Given the description of an element on the screen output the (x, y) to click on. 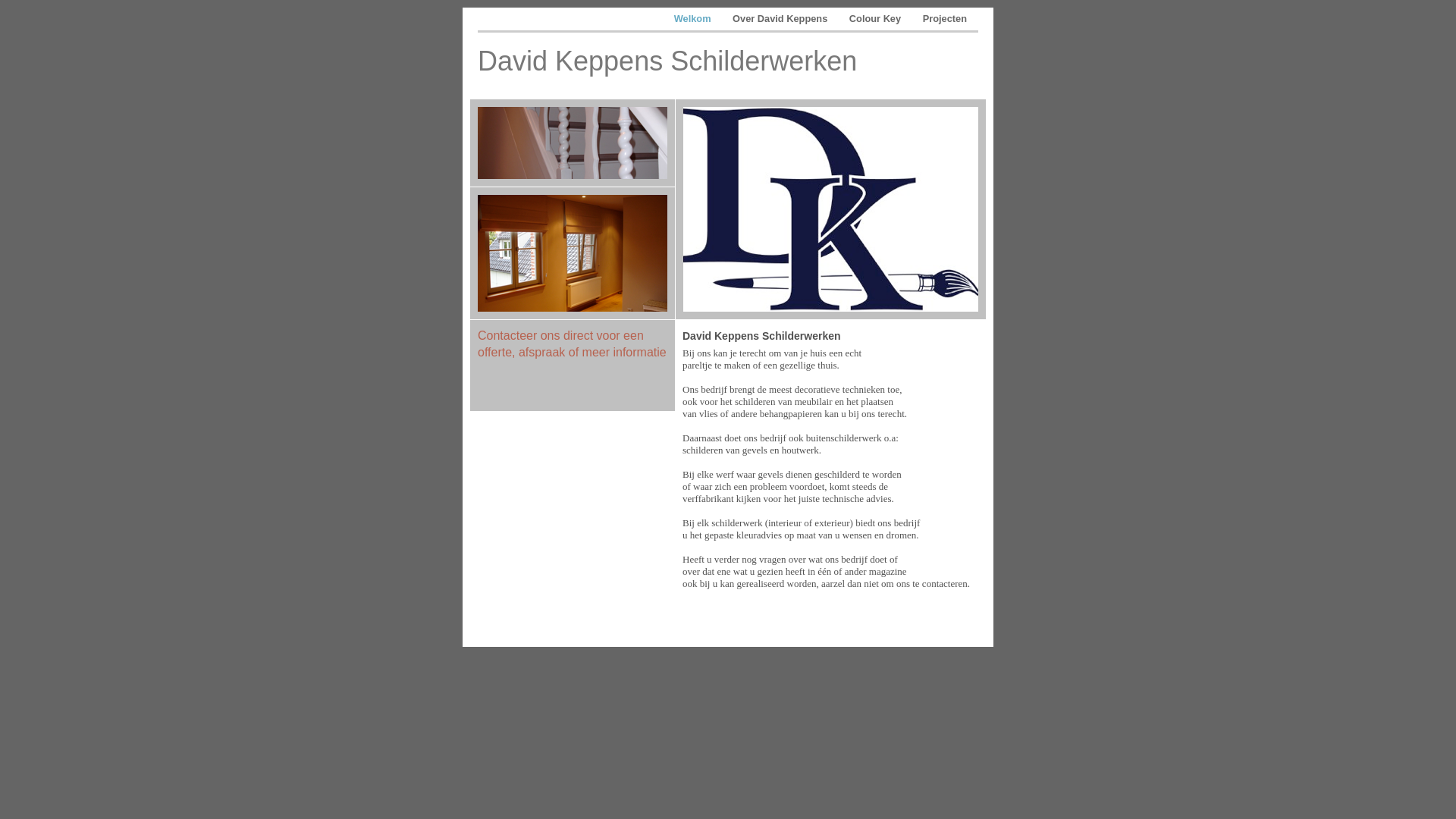
Over David Keppens Element type: text (780, 18)
Welkom Element type: text (693, 18)
Projecten Element type: text (944, 18)
Colour Key Element type: text (876, 18)
